Given the description of an element on the screen output the (x, y) to click on. 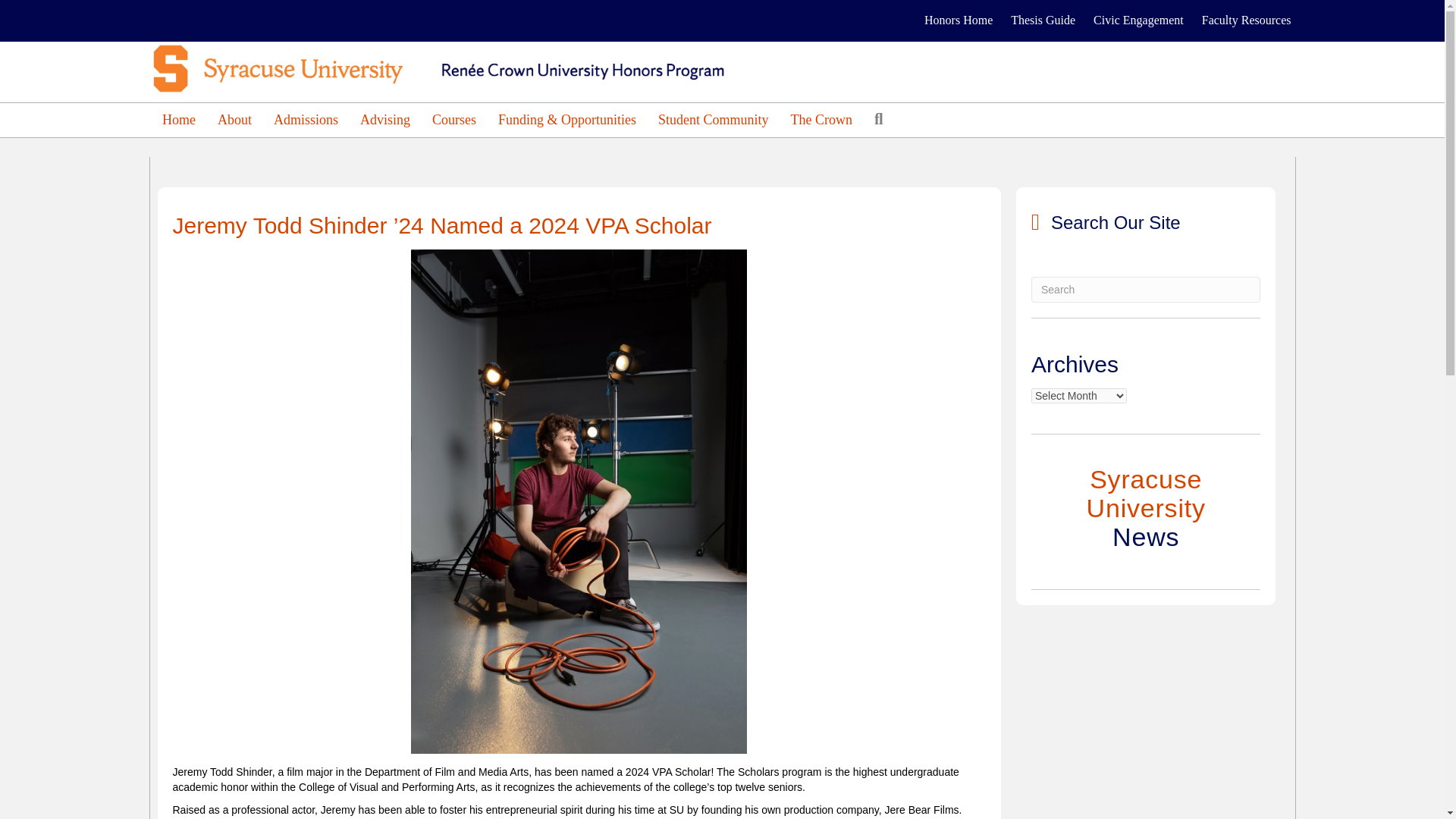
Search (881, 119)
Home (178, 119)
Admissions (306, 119)
About (234, 119)
The Crown (821, 119)
Crown-text-treatment-logo (454, 68)
Faculty Resources (1245, 20)
Advising (384, 119)
Civic Engagement (1138, 20)
Thesis Guide (1043, 20)
Student Community (712, 119)
Honors Home (958, 20)
Courses (454, 119)
